Given the description of an element on the screen output the (x, y) to click on. 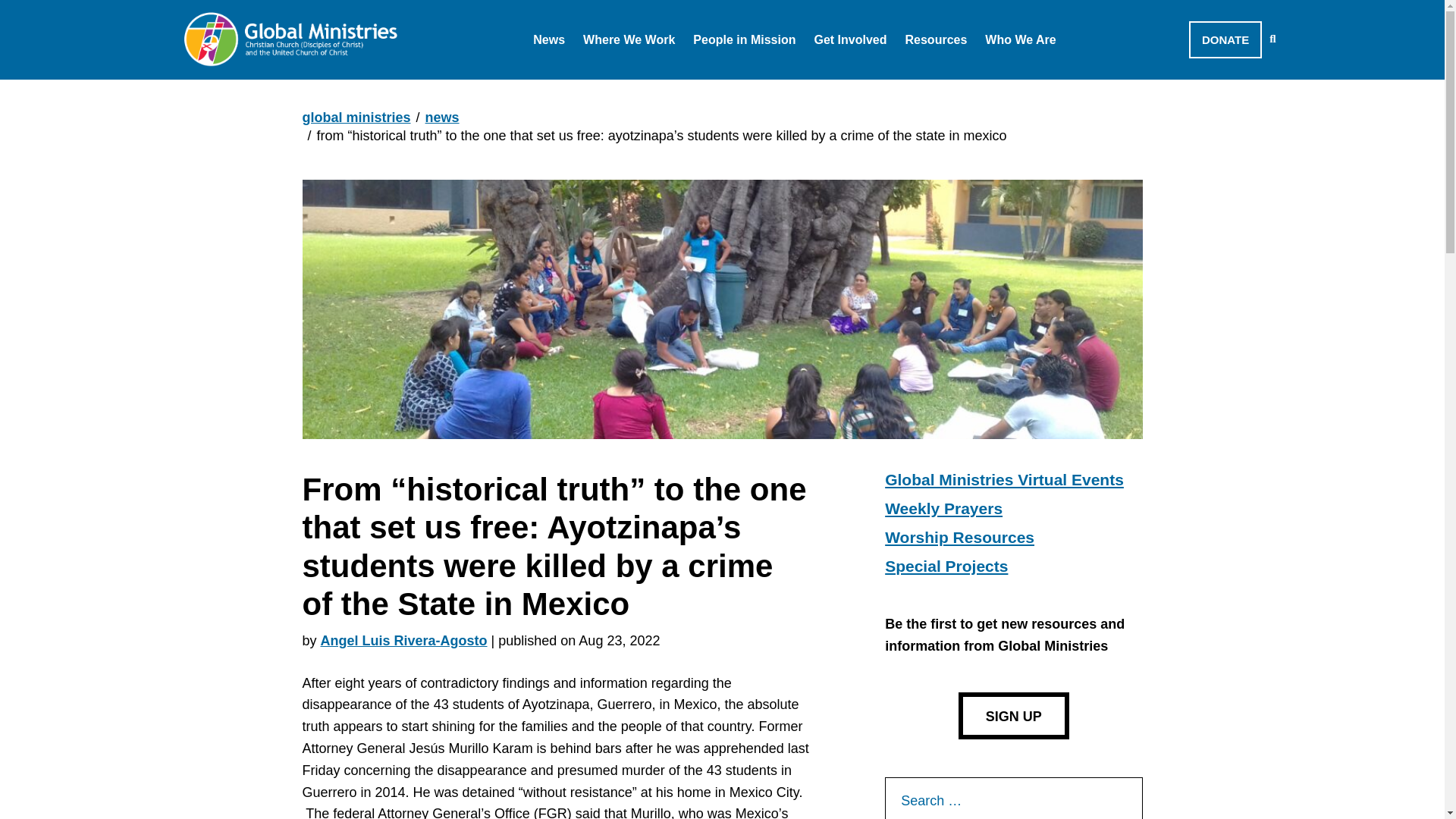
DONATE (1225, 39)
Africa (617, 79)
Posts by Angel Luis Rivera-Agosto (403, 640)
Sign Up (1013, 715)
Mission in Residence (777, 79)
Latin America and the Caribbean (704, 79)
Southern Asia (644, 79)
Middle East and Europe (675, 79)
Short-term Volunteers (779, 79)
Calendar of Missionary Visits (643, 79)
Global Ministries (290, 39)
People in Mission (743, 40)
Be a Global Mission Church! (921, 79)
East Asia and the Pacific (678, 79)
Mission Co-Workers (773, 79)
